Given the description of an element on the screen output the (x, y) to click on. 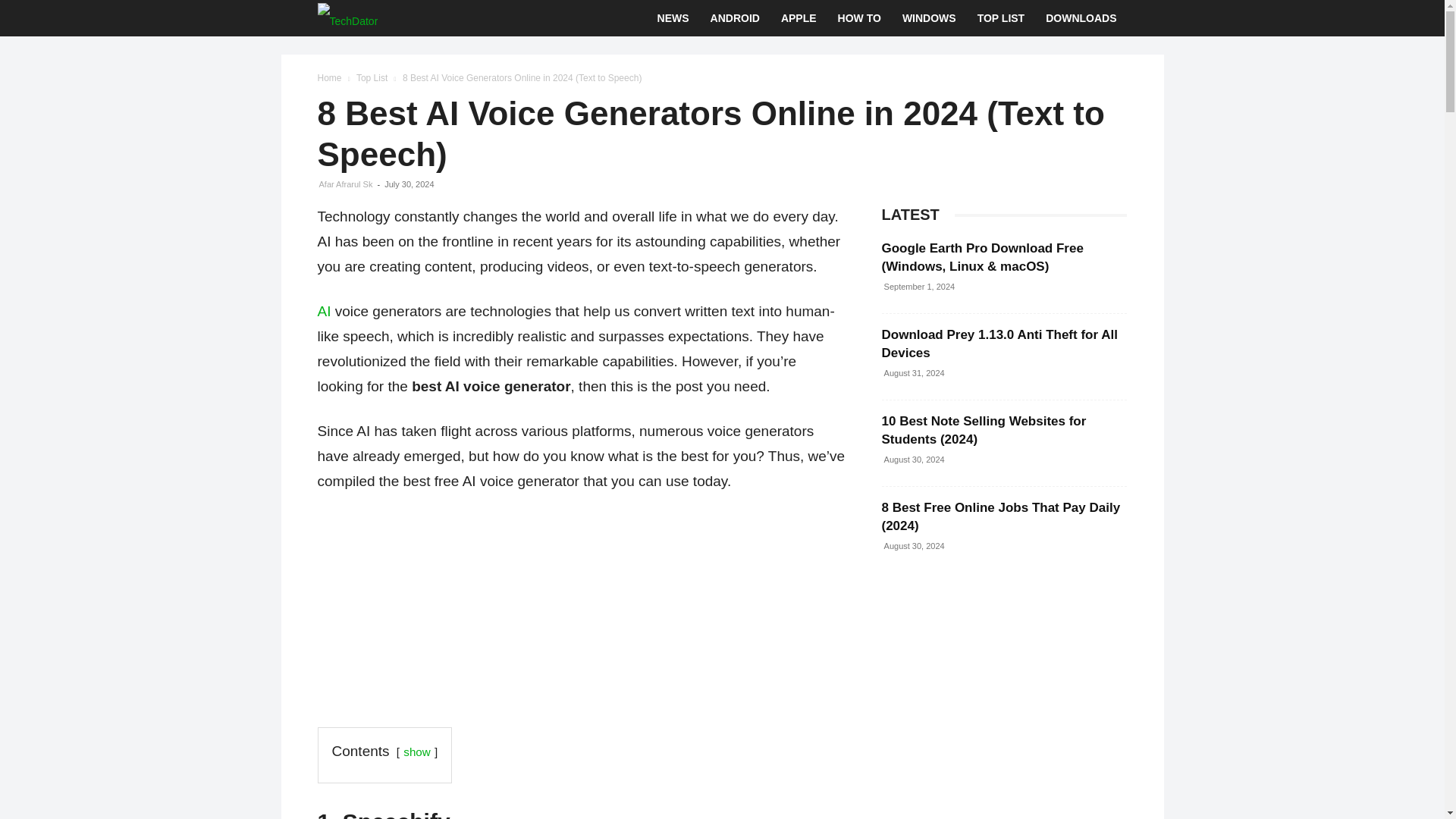
Home (328, 77)
View all posts in Top List (371, 77)
ANDROID (735, 18)
APPLE (798, 18)
TechDator (347, 18)
NEWS (673, 18)
Afar Afrarul Sk (345, 184)
TOP LIST (1000, 18)
WINDOWS (928, 18)
show (416, 751)
